Given the description of an element on the screen output the (x, y) to click on. 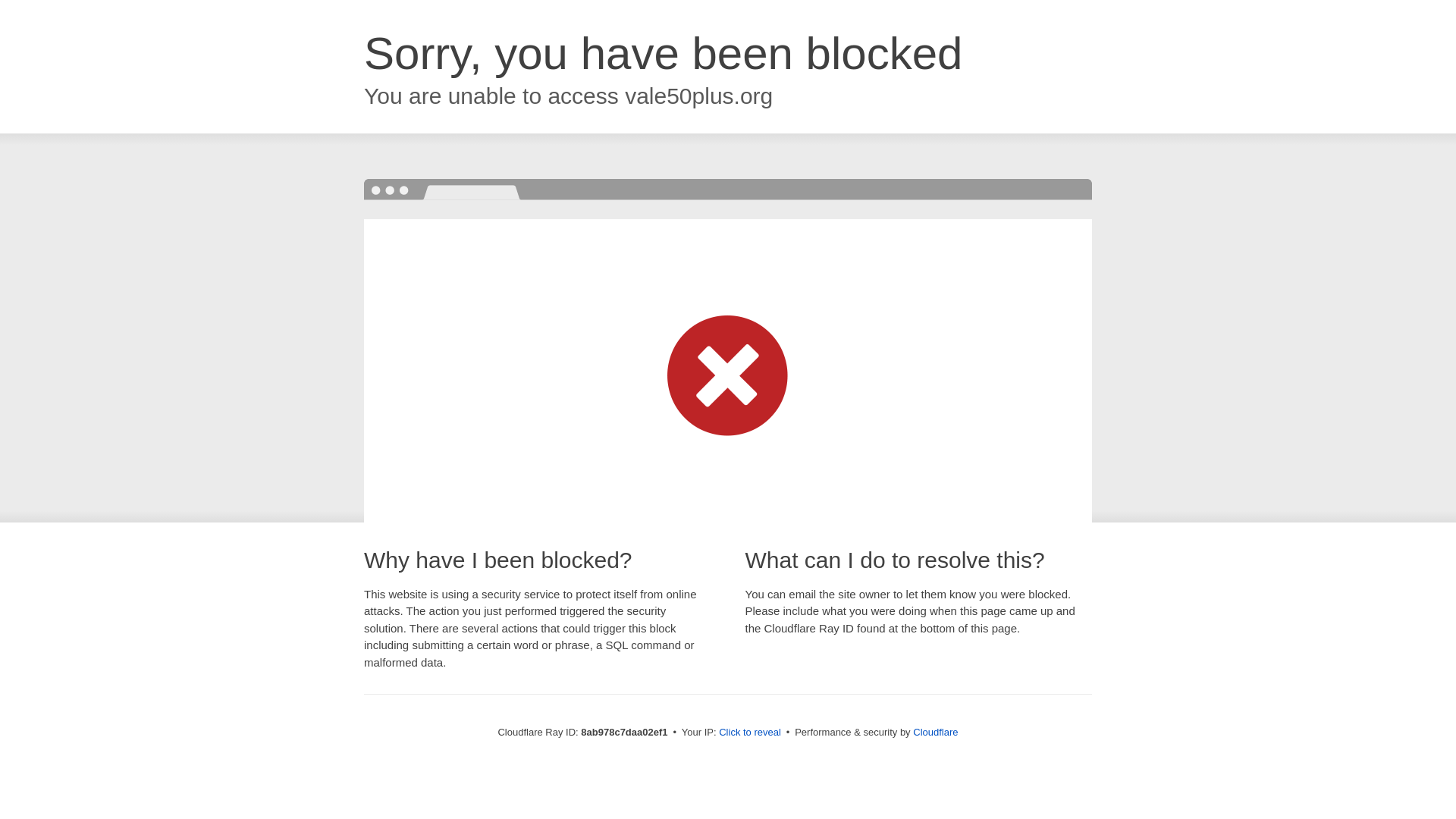
Cloudflare (935, 731)
Click to reveal (749, 732)
